Given the description of an element on the screen output the (x, y) to click on. 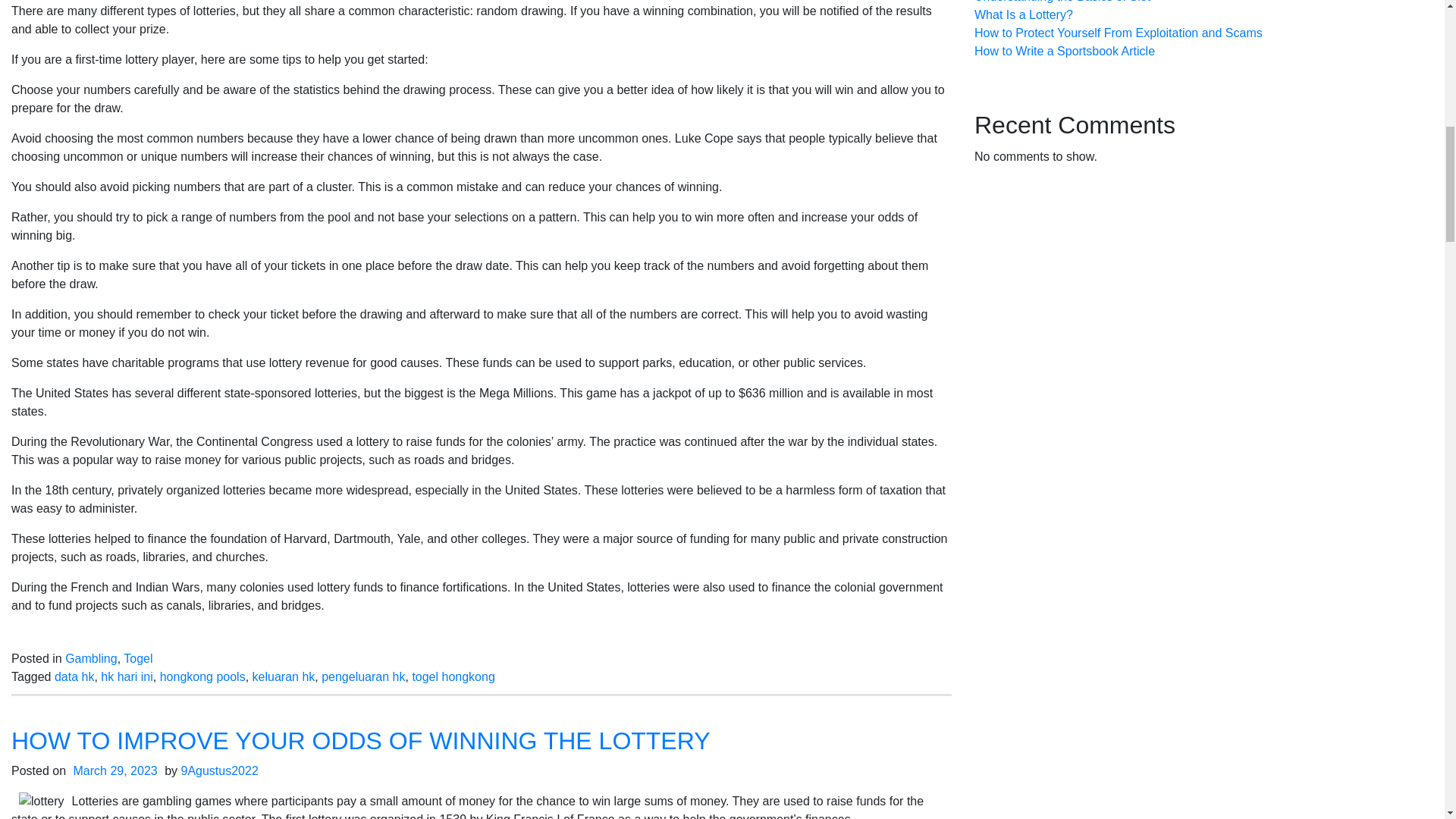
Togel (137, 658)
data hk (74, 676)
Gambling (90, 658)
hongkong pools (203, 676)
keluaran hk (283, 676)
hk hari ini (126, 676)
